Given the description of an element on the screen output the (x, y) to click on. 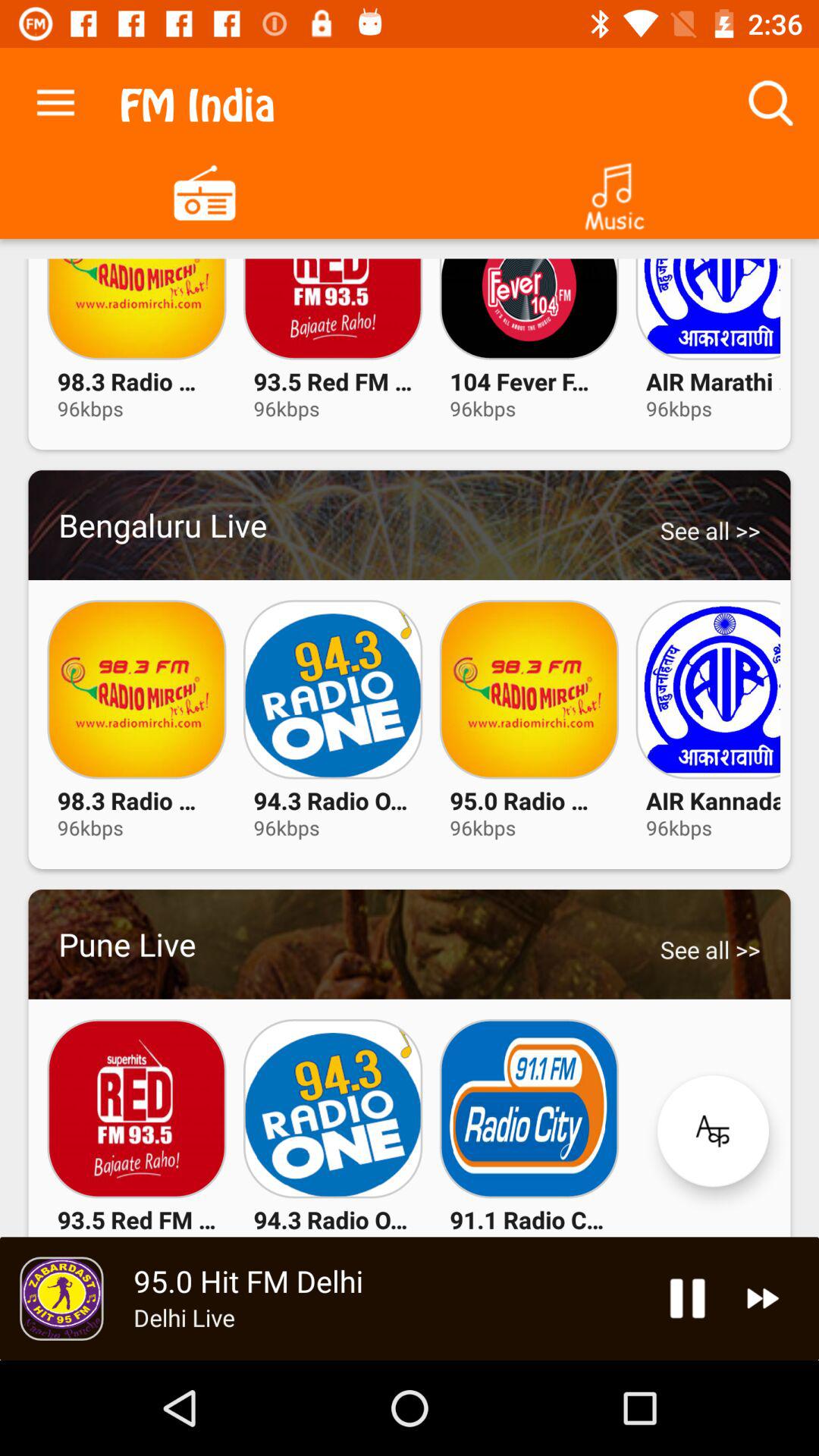
choose the item to the left of the fm india icon (55, 99)
